Given the description of an element on the screen output the (x, y) to click on. 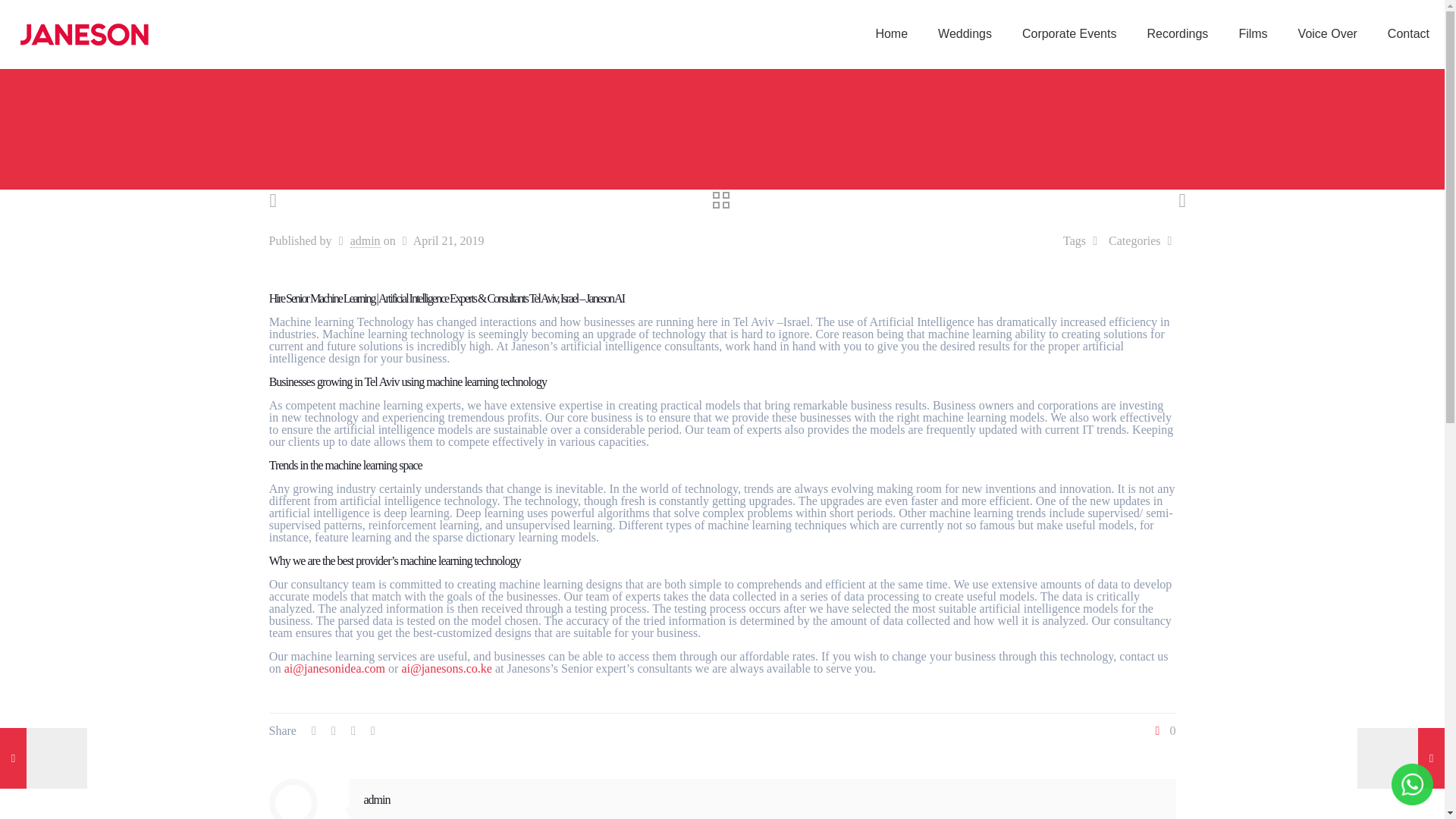
admin (377, 799)
Weddings (965, 33)
Recordings (1177, 33)
admin (365, 241)
Corporate Events (1069, 33)
Home (891, 33)
Janeson (83, 33)
0 (1162, 730)
Voice Over (1327, 33)
